Given the description of an element on the screen output the (x, y) to click on. 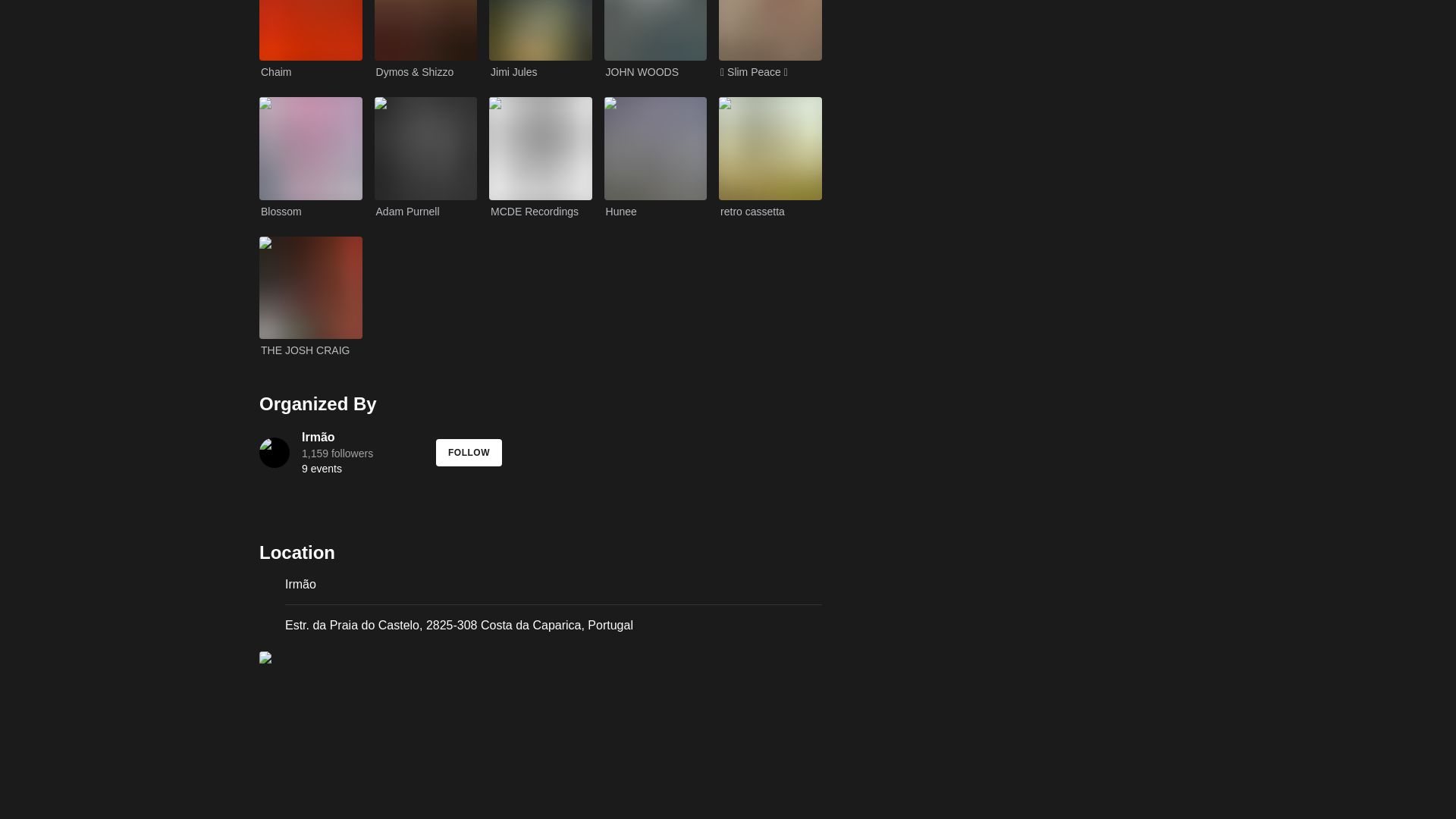
Chaim (310, 39)
JOHN WOODS (655, 39)
Jimi Jules (540, 39)
